Given the description of an element on the screen output the (x, y) to click on. 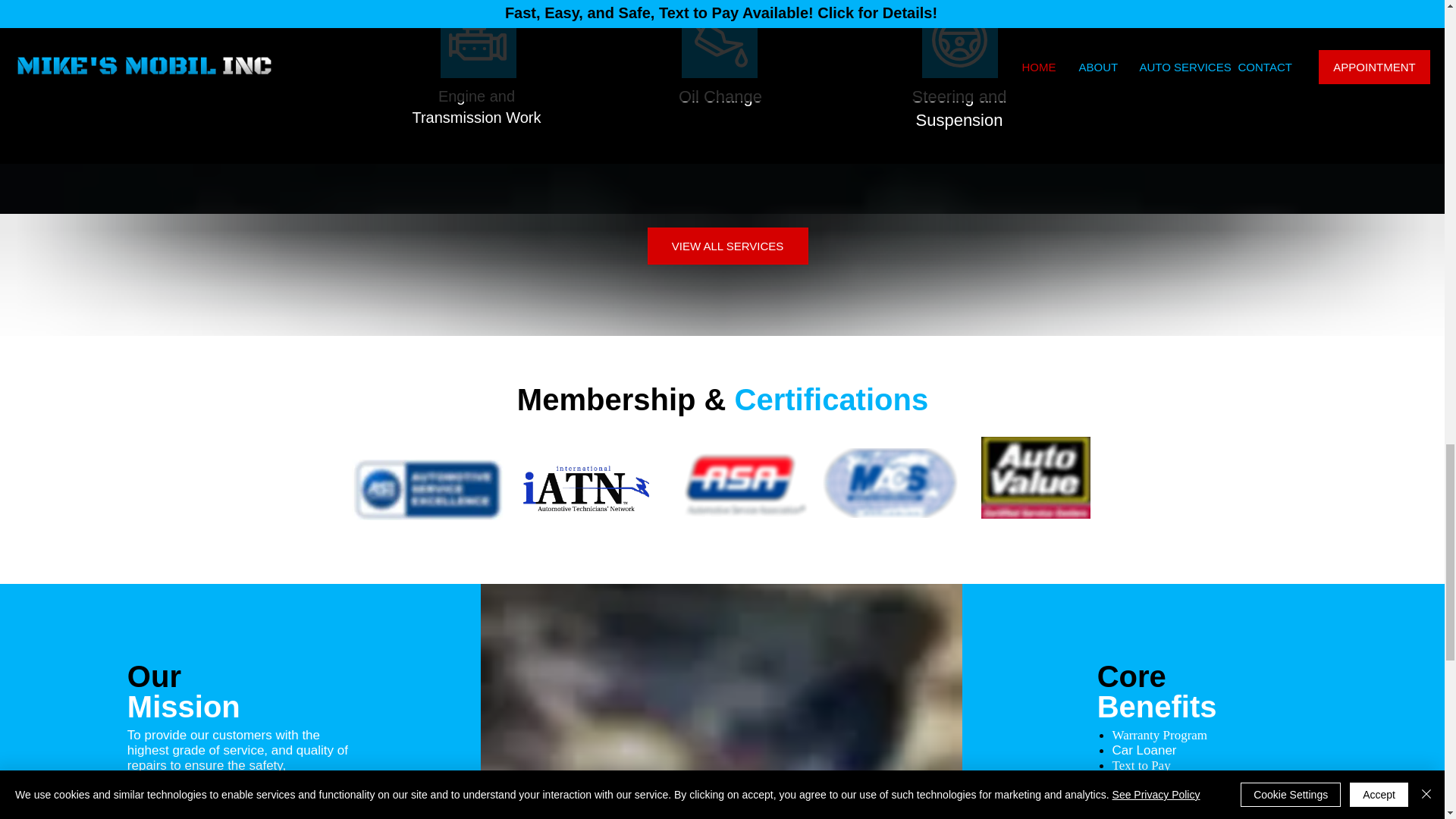
iATN (584, 489)
MACS (888, 482)
ASA (745, 485)
VIEW ALL SERVICES (727, 245)
ASE (427, 489)
